Given the description of an element on the screen output the (x, y) to click on. 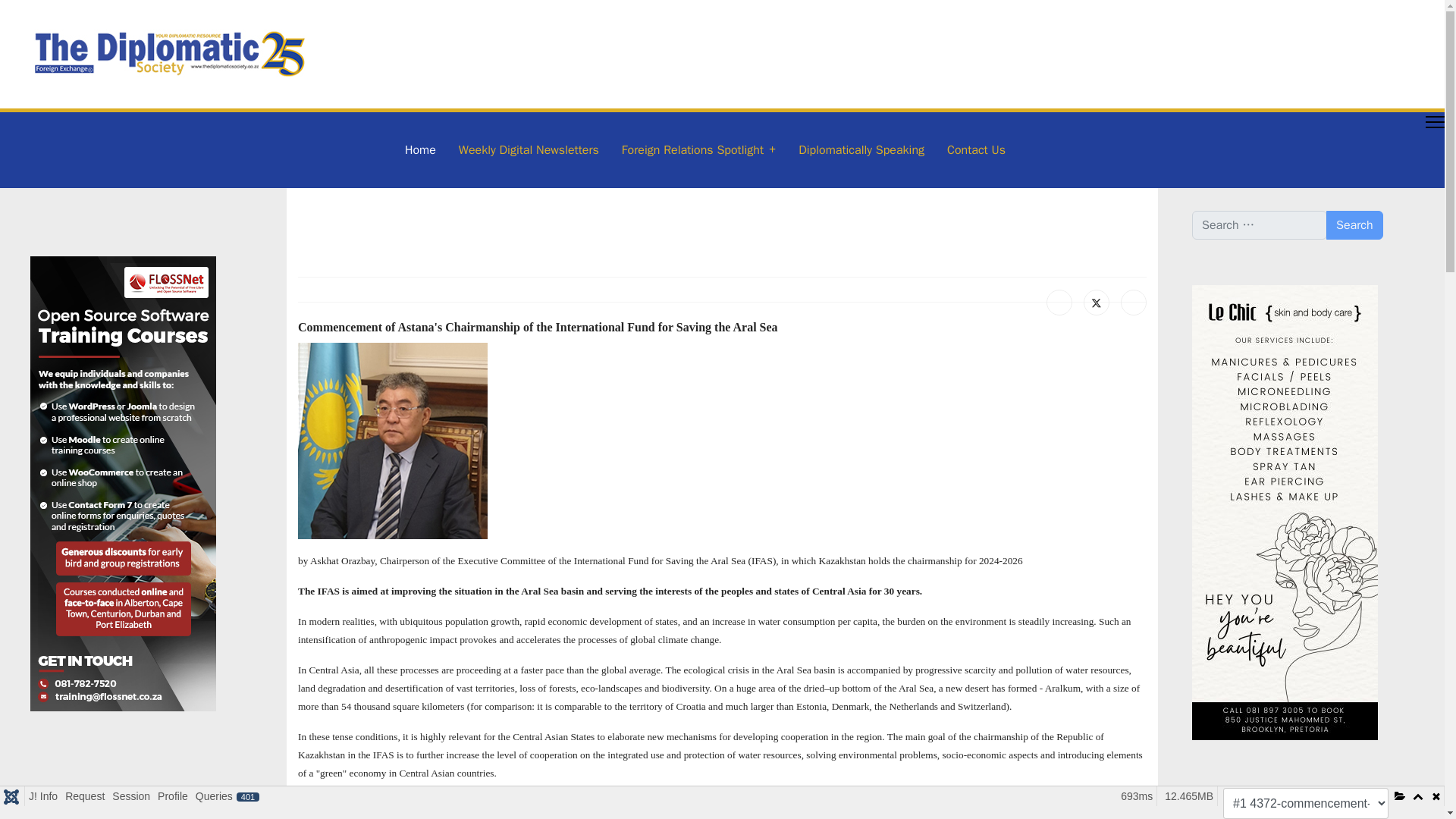
Advertisement (90, 787)
Facebook (1058, 302)
Weekly Digital Newsletters (528, 150)
Contact Us (971, 150)
Diplomatically Speaking (861, 150)
Search (1354, 224)
Advertisement (1252, 802)
LinkedIn (1134, 302)
Advertisement (540, 229)
